Given the description of an element on the screen output the (x, y) to click on. 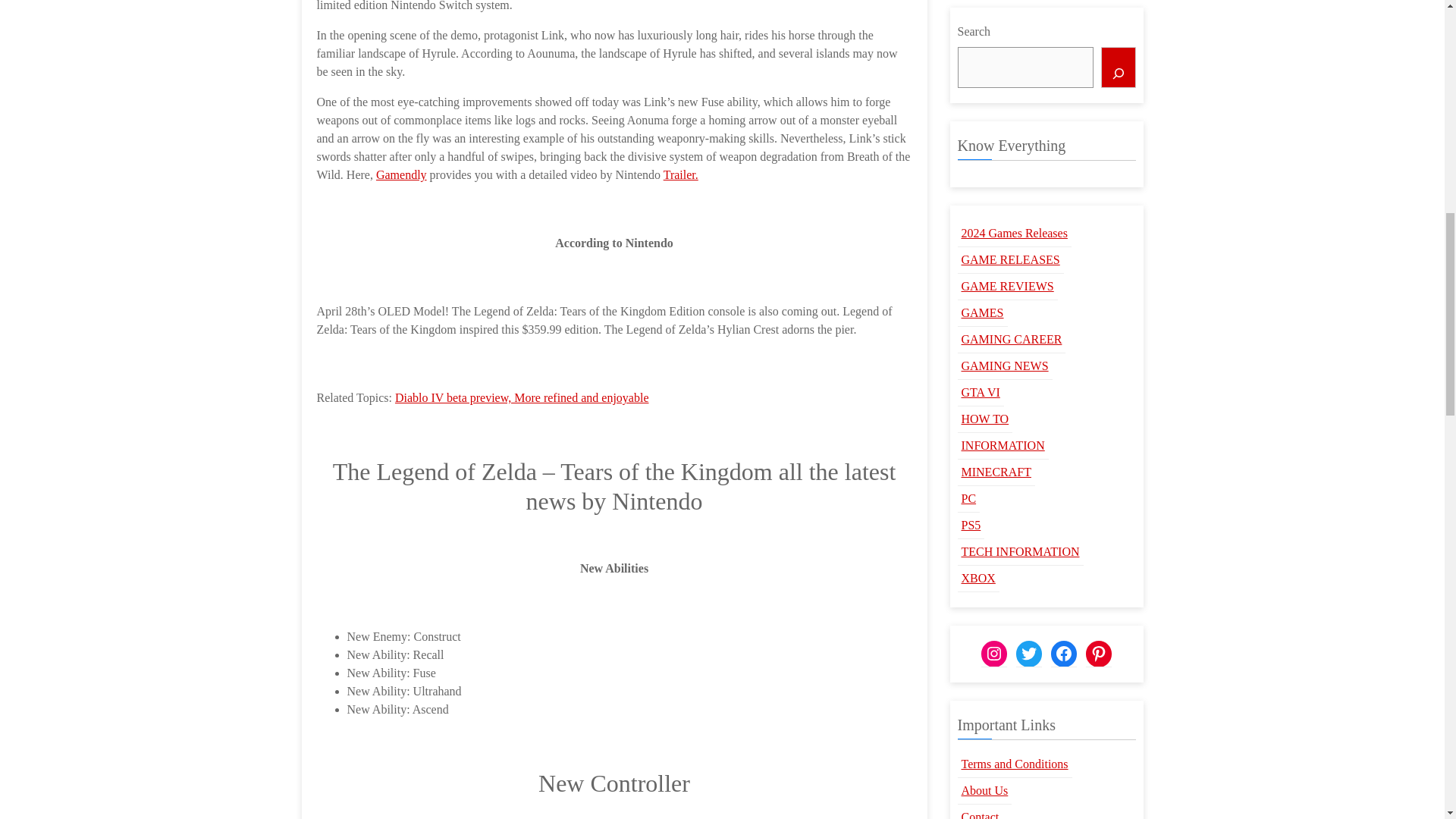
Trailer. (680, 174)
Gamendly (400, 174)
Diablo IV beta preview, More refined and enjoyable (521, 397)
